Given the description of an element on the screen output the (x, y) to click on. 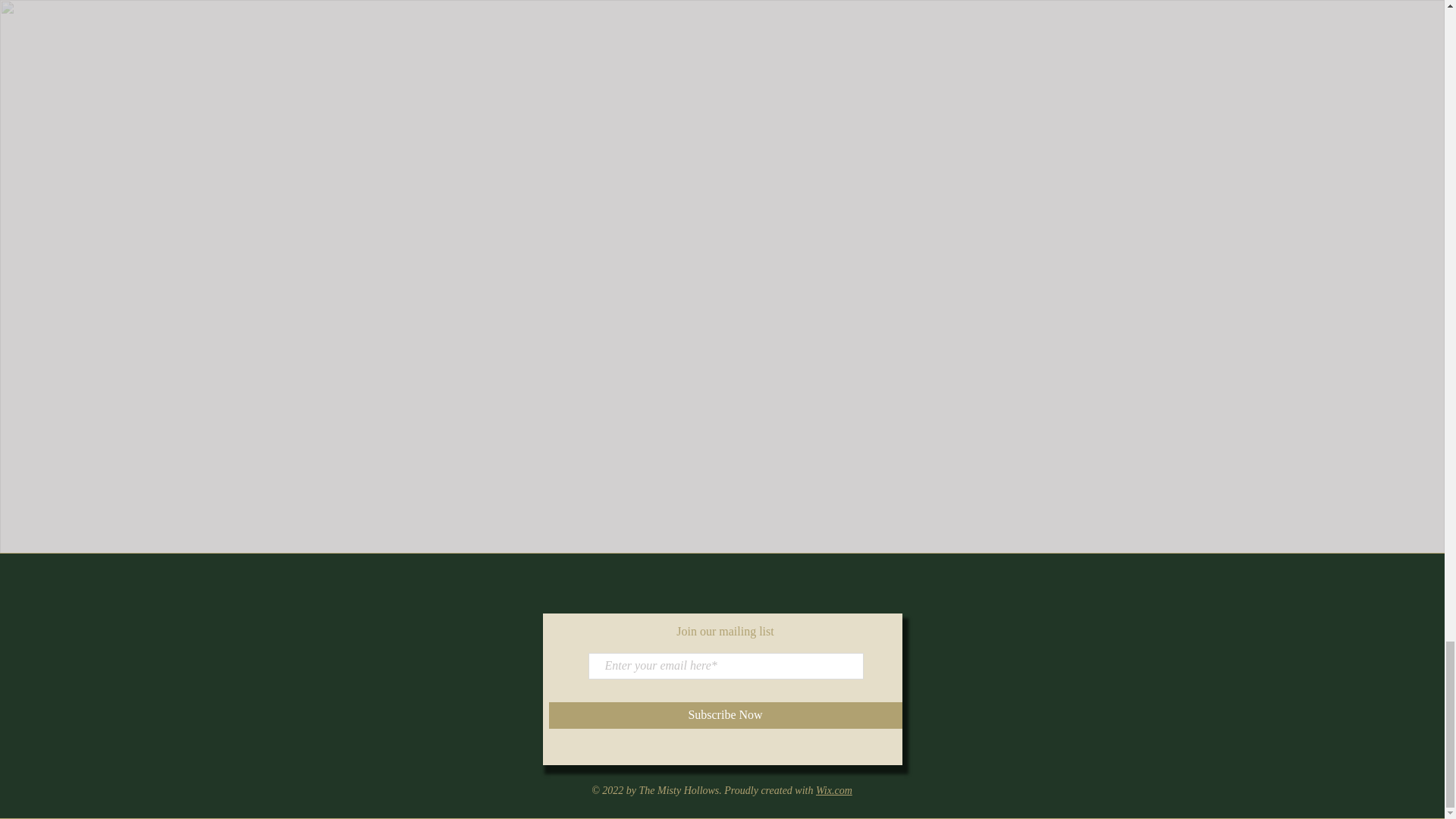
Wix.com (833, 790)
Subscribe Now (725, 714)
